Given the description of an element on the screen output the (x, y) to click on. 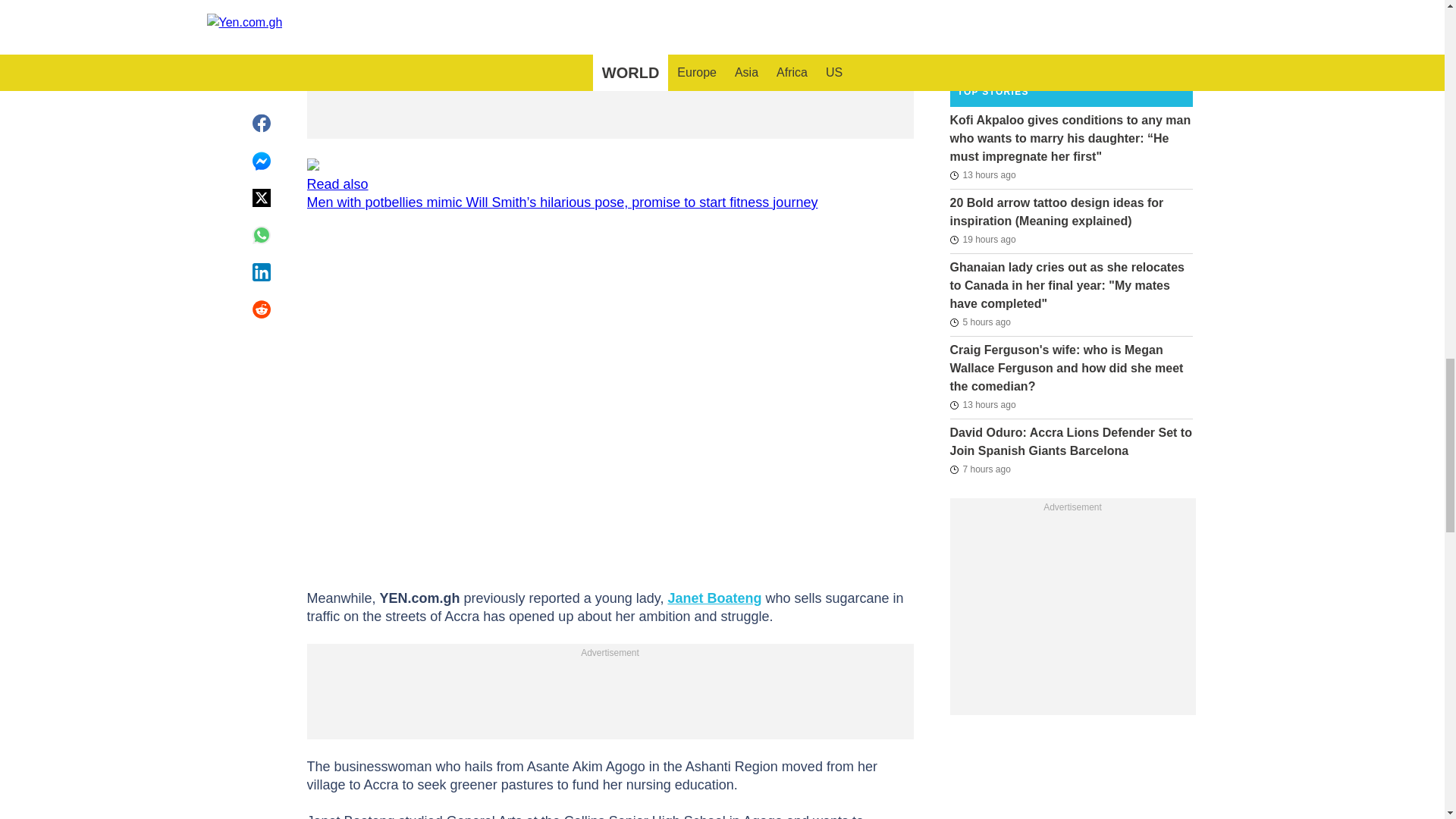
2024-08-30T17:16:27Z (979, 321)
2024-08-30T09:16:46Z (981, 404)
2024-08-30T09:36:49Z (981, 175)
2024-08-30T15:29:37Z (979, 469)
2024-08-30T03:38:46Z (981, 239)
2022-08-25T20:09:04Z (979, 47)
